Given the description of an element on the screen output the (x, y) to click on. 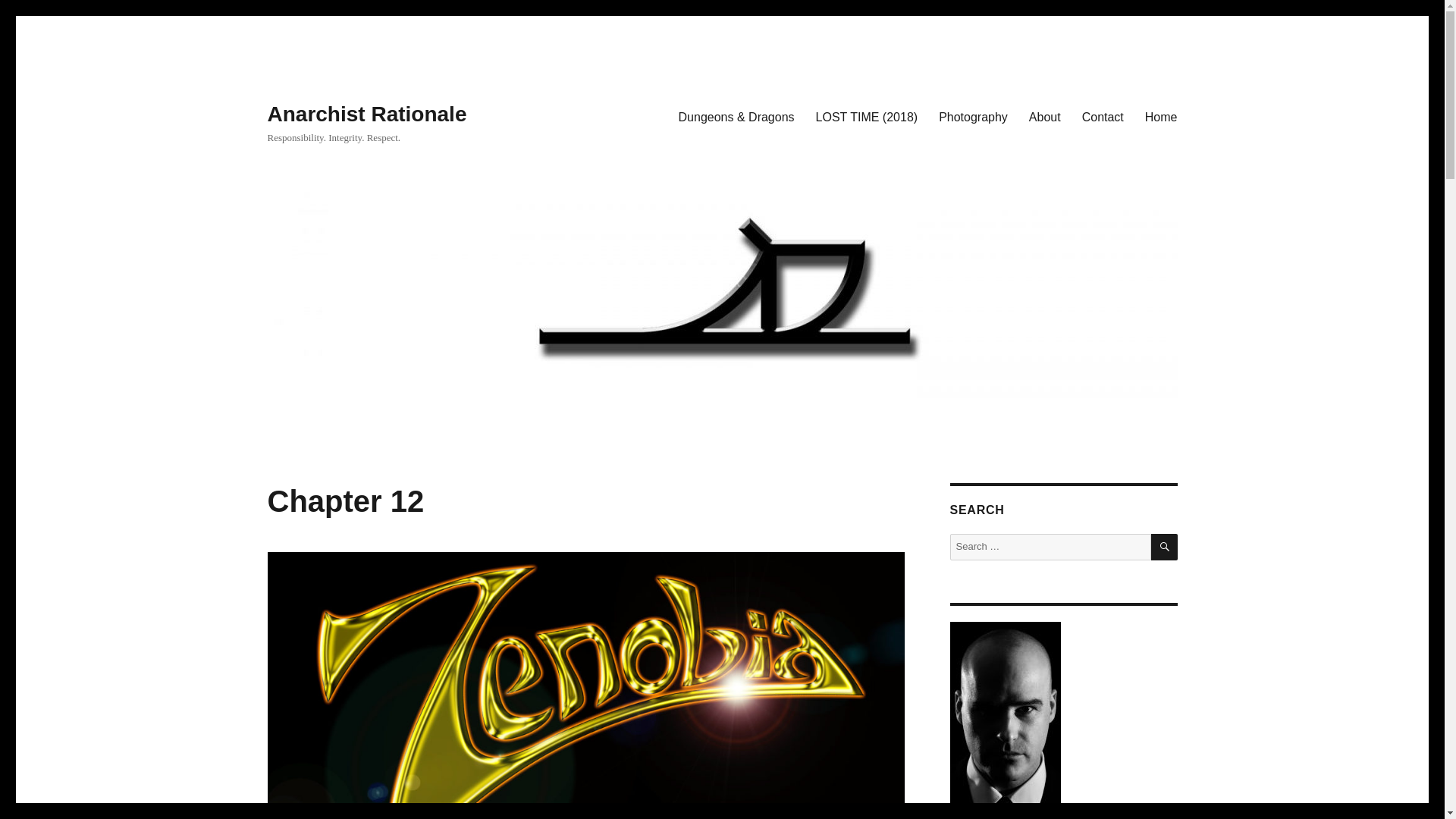
Contact (1102, 116)
Home (1161, 116)
About (1044, 116)
Anarchist Rationale (365, 114)
Photography (972, 116)
SEARCH (1164, 546)
